Given the description of an element on the screen output the (x, y) to click on. 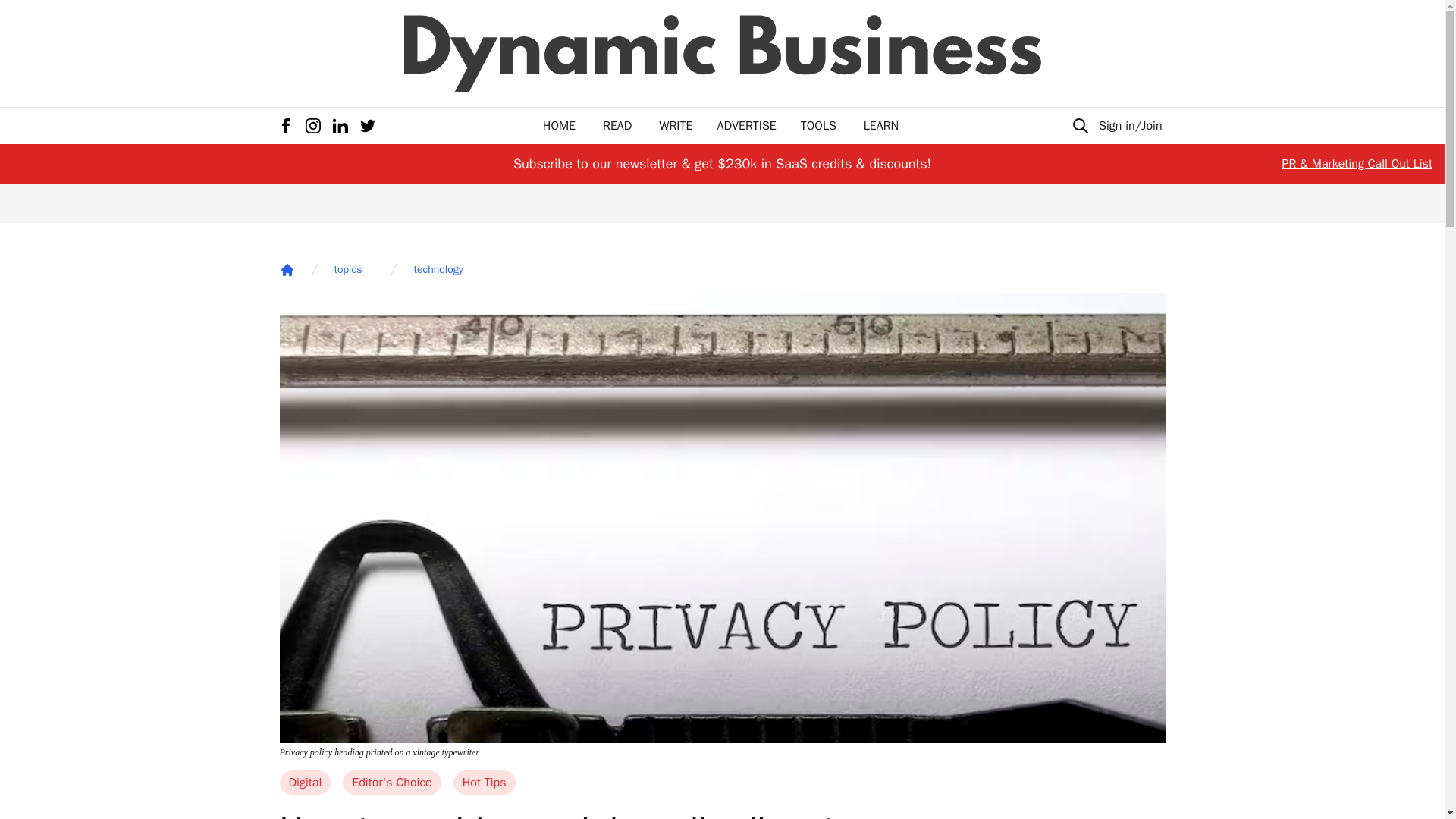
Hot Tips (483, 782)
TOOLS (817, 126)
topics (347, 269)
Home (286, 269)
technology (438, 269)
Editor's Choice (391, 782)
Digital (304, 782)
WRITE (676, 126)
HOME (559, 126)
ADVERTISE (746, 126)
